Given the description of an element on the screen output the (x, y) to click on. 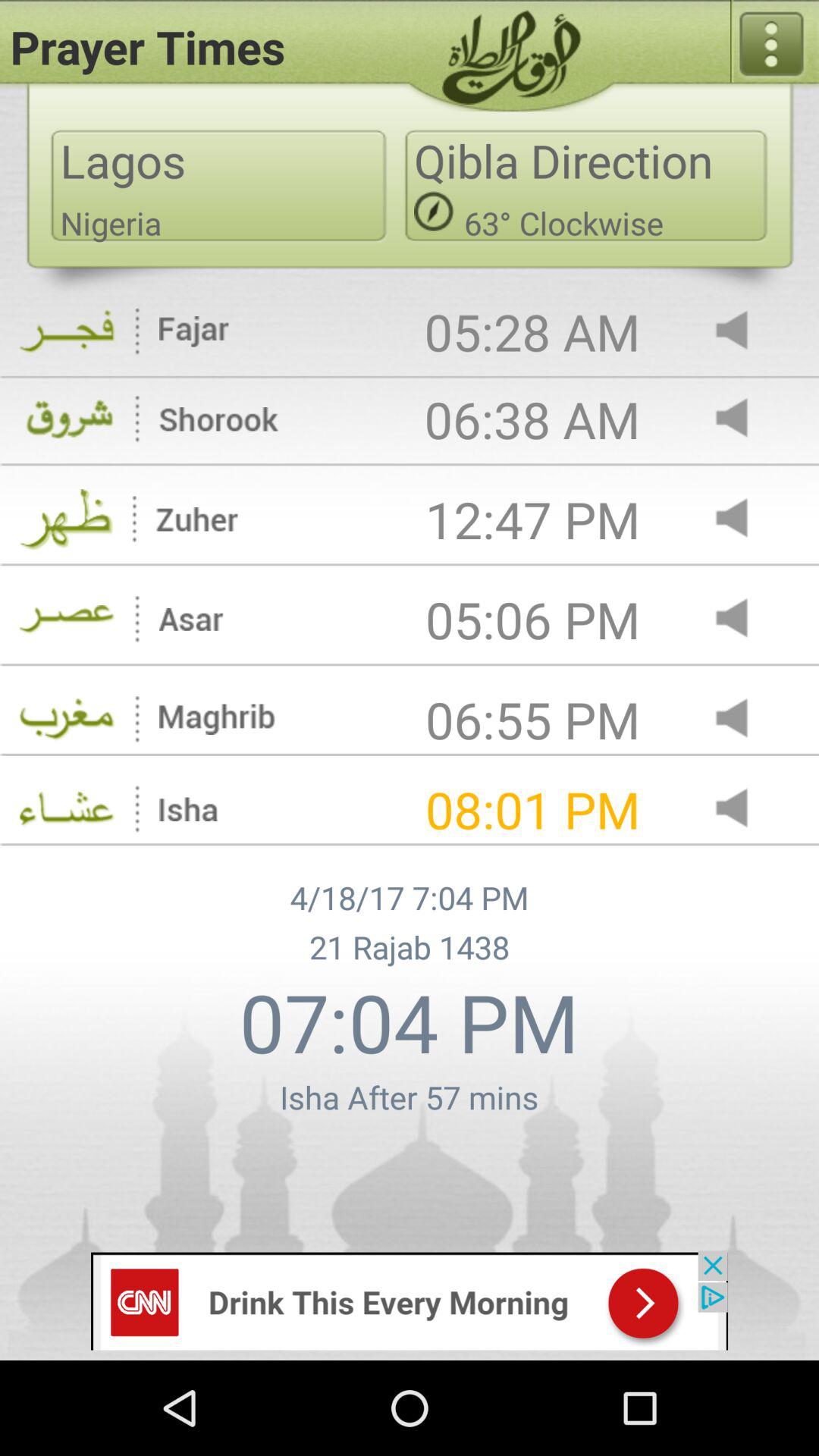
listen the hours (744, 719)
